Given the description of an element on the screen output the (x, y) to click on. 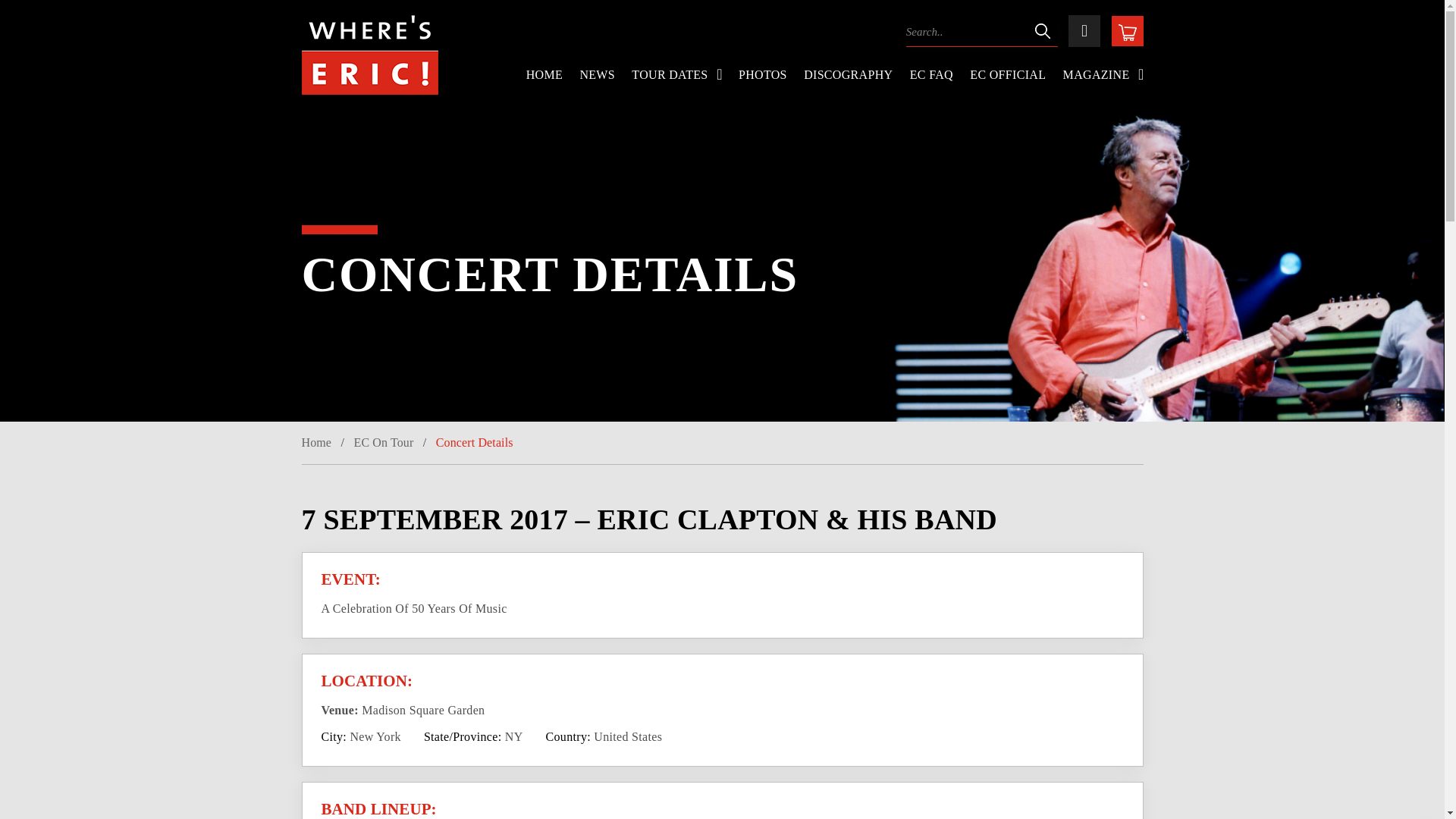
Where's Eric! (369, 51)
NEWS (596, 74)
EC FAQ (931, 74)
PHOTOS (762, 74)
TOUR DATES (675, 74)
MAGAZINE (1102, 74)
EC OFFICIAL (1007, 74)
DISCOGRAPHY (847, 74)
HOME (543, 74)
PHOTOS (762, 74)
EC On Tour (383, 441)
Home (316, 441)
